Given the description of an element on the screen output the (x, y) to click on. 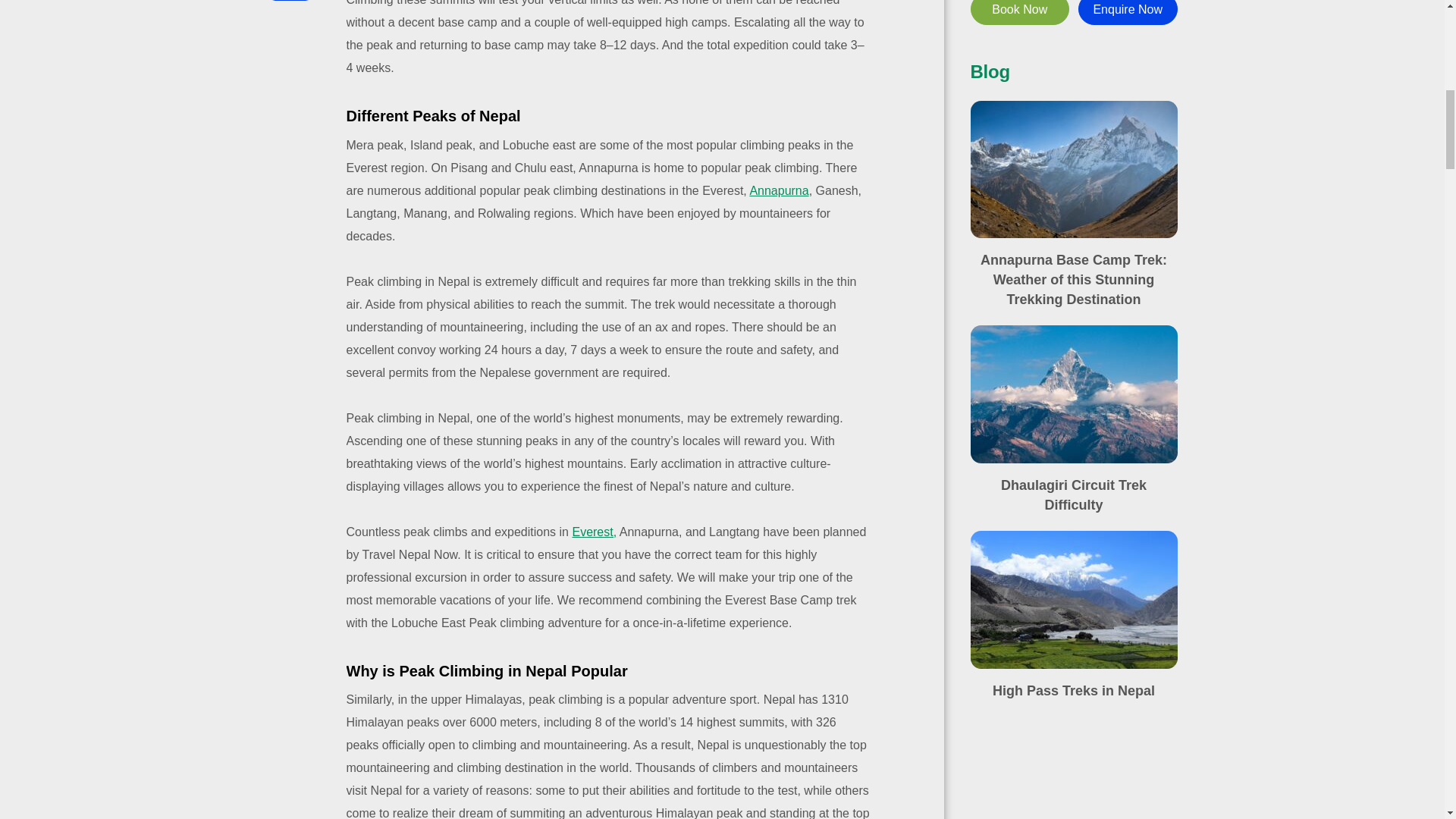
Everest, (593, 531)
Enquire Now (1127, 12)
Book Now (1020, 12)
Annapurna (778, 190)
